Given the description of an element on the screen output the (x, y) to click on. 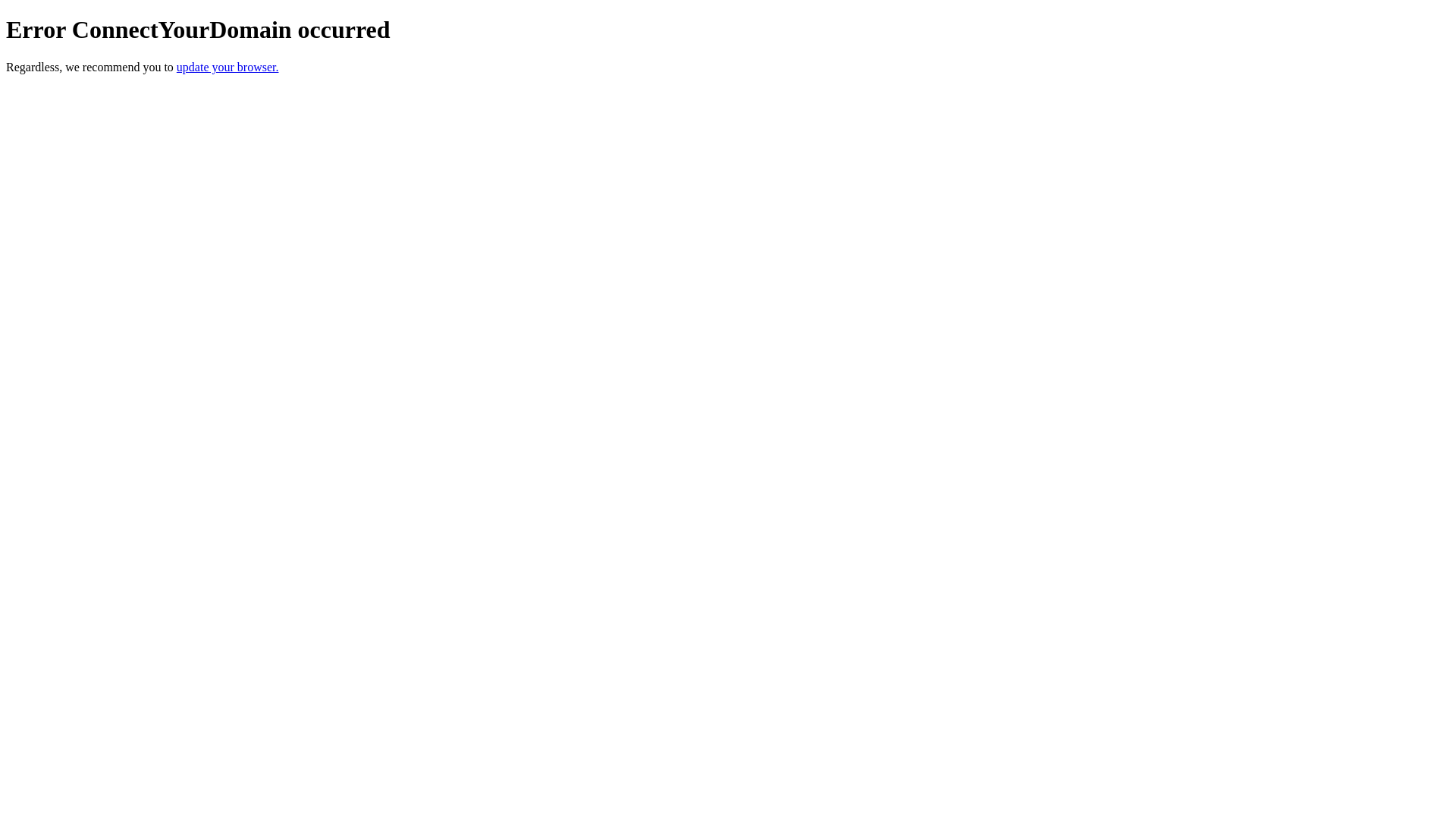
update your browser. Element type: text (227, 66)
